Given the description of an element on the screen output the (x, y) to click on. 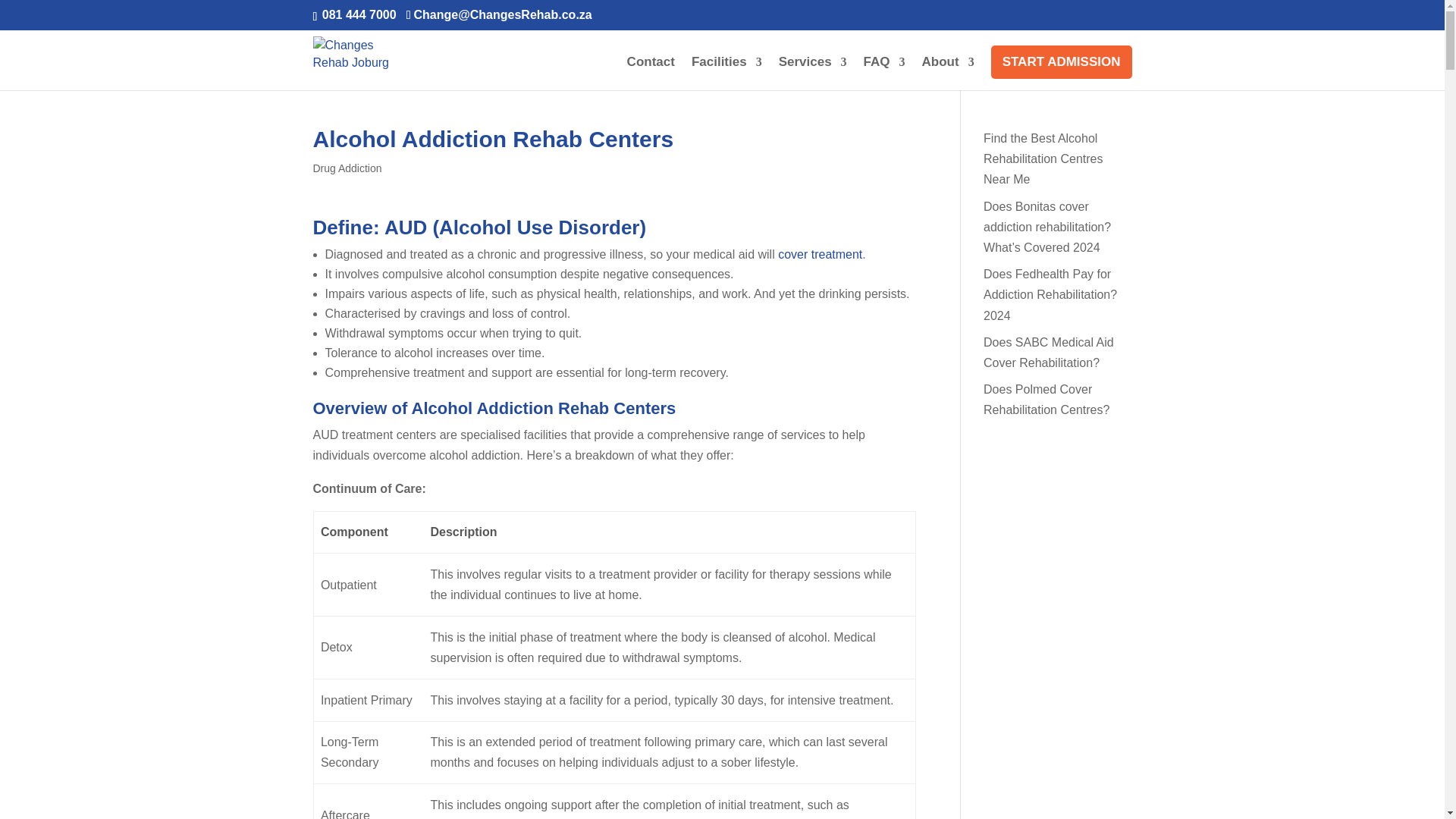
Contact (651, 73)
About (947, 73)
Services (812, 73)
081 444 7000 (357, 14)
Drug Addiction (347, 168)
START ADMISSION (1061, 61)
Call Our Johannesburg Rehab Direct (357, 14)
Facilities (726, 73)
FAQ (884, 73)
